Given the description of an element on the screen output the (x, y) to click on. 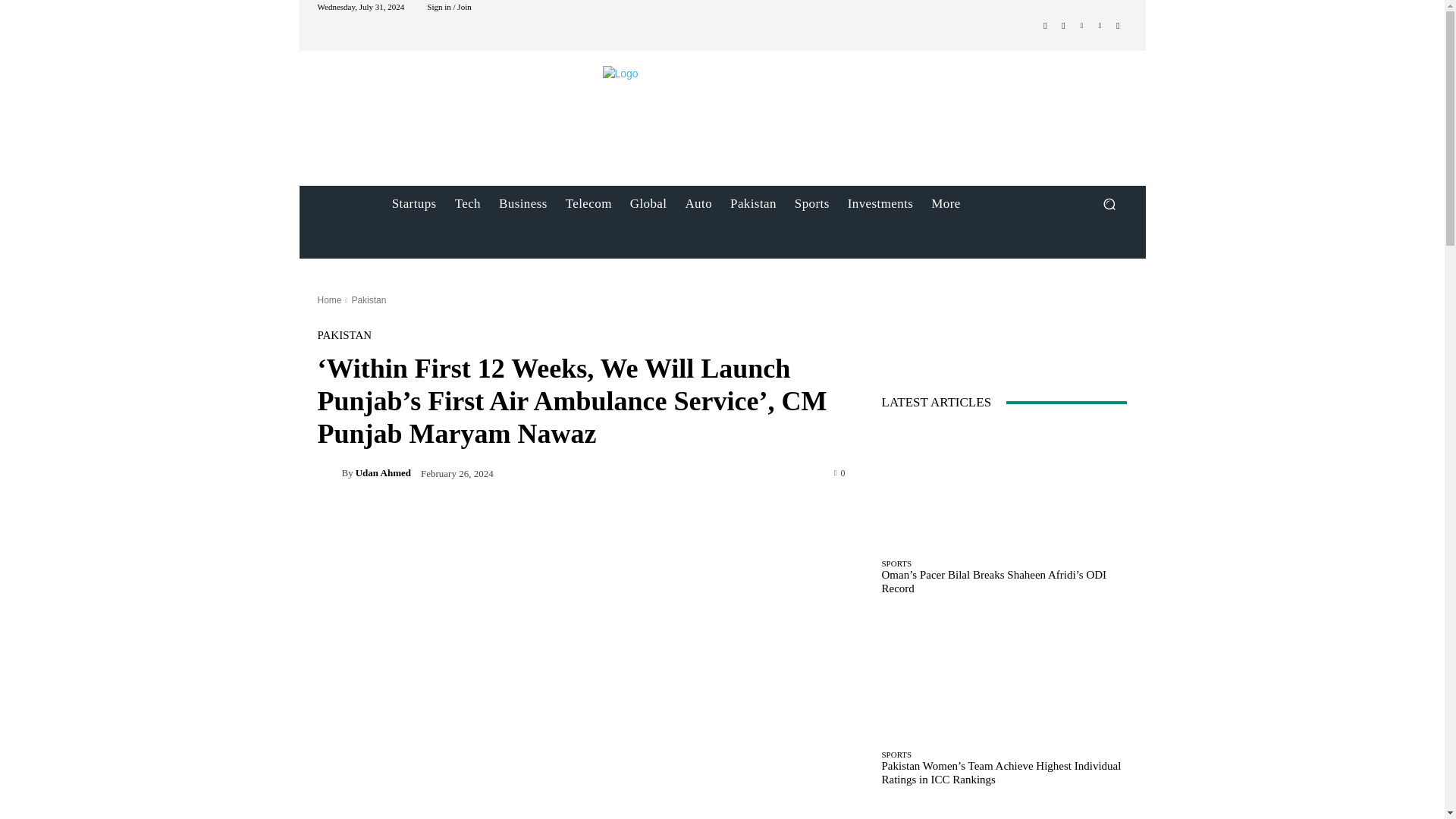
Auto (697, 203)
Tech (467, 203)
Udan Ahmed (328, 473)
View all posts in Pakistan (367, 299)
More (945, 203)
Youtube (1117, 25)
Vimeo (1099, 25)
Pakistan (753, 203)
Startups (413, 203)
Global (649, 203)
Twitter (1080, 25)
Telecom (588, 203)
Facebook (1044, 25)
Sports (812, 203)
Investments (880, 203)
